Given the description of an element on the screen output the (x, y) to click on. 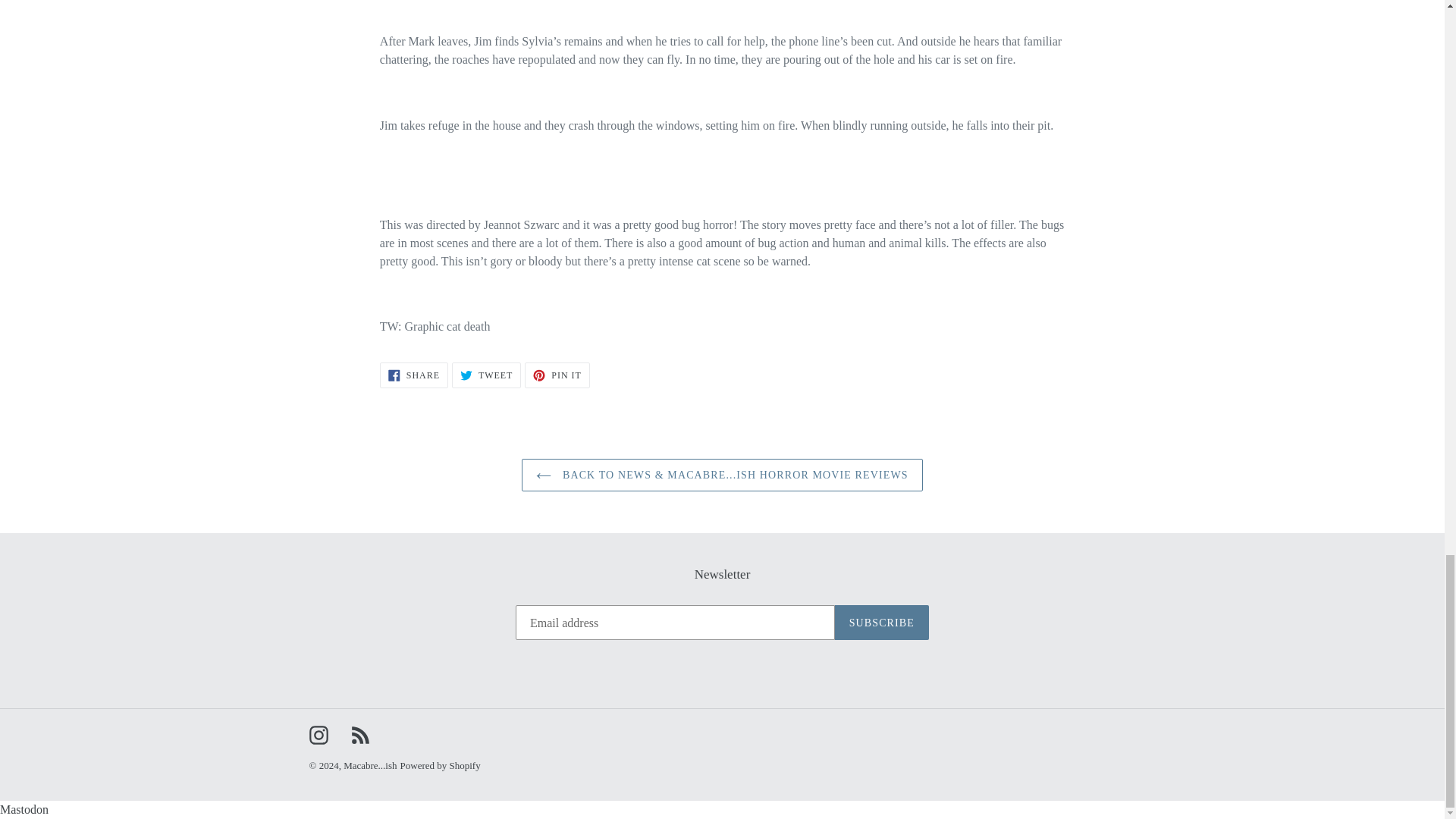
Powered by Shopify (440, 765)
Macabre...ish (369, 765)
RSS (359, 734)
Mastodon (24, 809)
SUBSCRIBE (486, 375)
Instagram (881, 622)
